Given the description of an element on the screen output the (x, y) to click on. 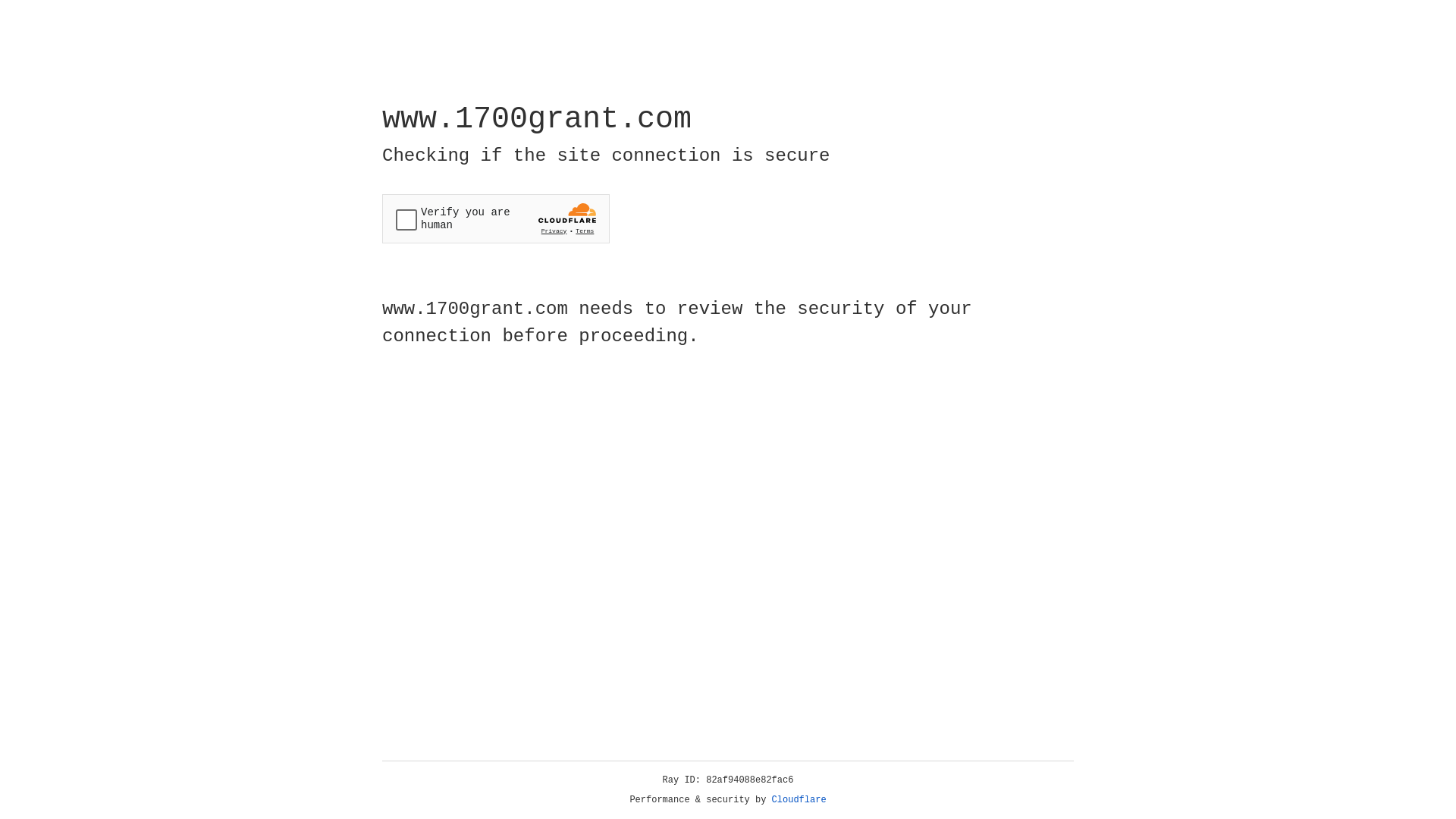
Widget containing a Cloudflare security challenge Element type: hover (495, 218)
Cloudflare Element type: text (798, 799)
